Given the description of an element on the screen output the (x, y) to click on. 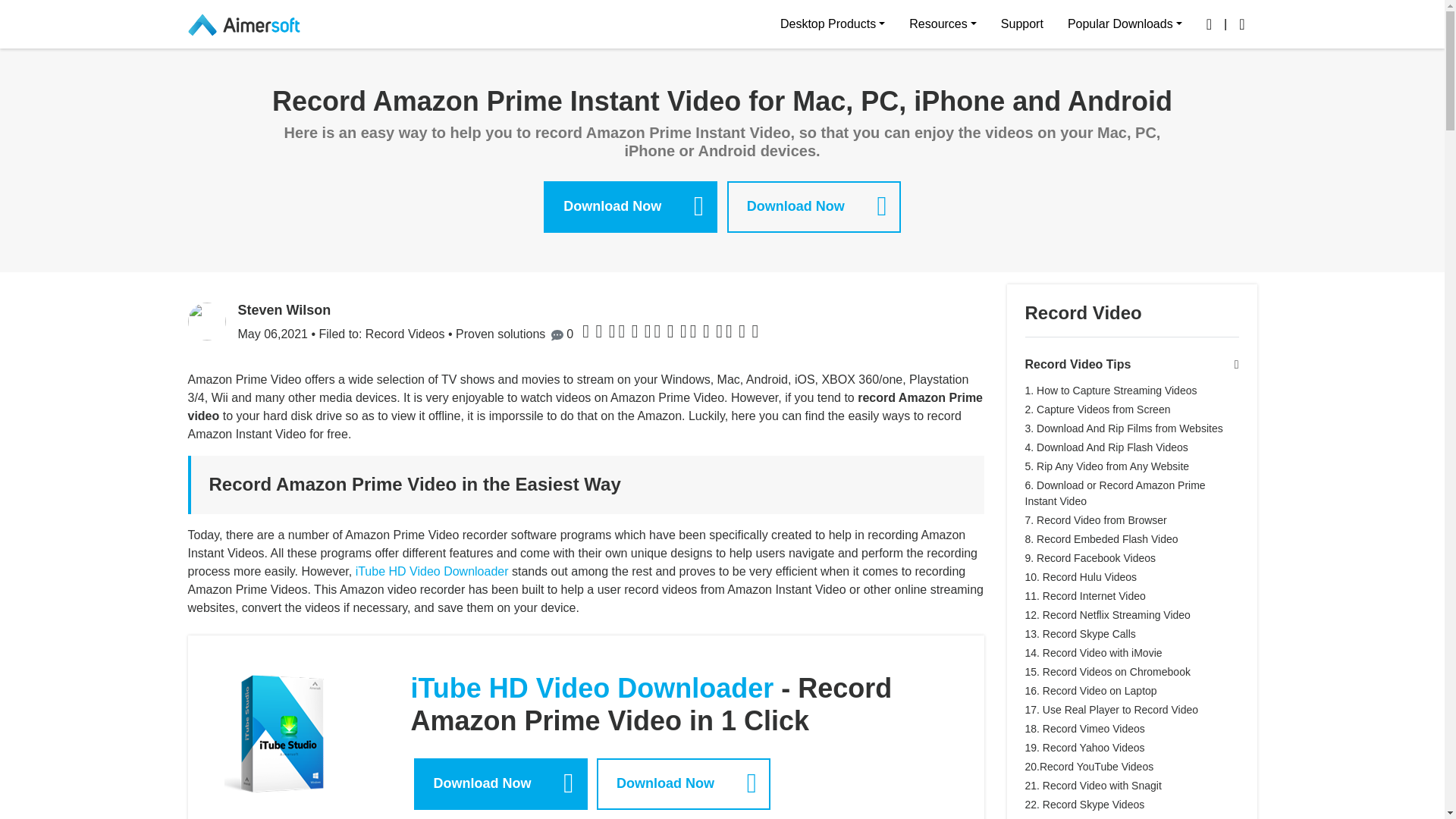
Download Now (630, 206)
Popular Downloads (1124, 24)
Desktop Products (832, 24)
Resources (942, 24)
Support (1021, 24)
